Given the description of an element on the screen output the (x, y) to click on. 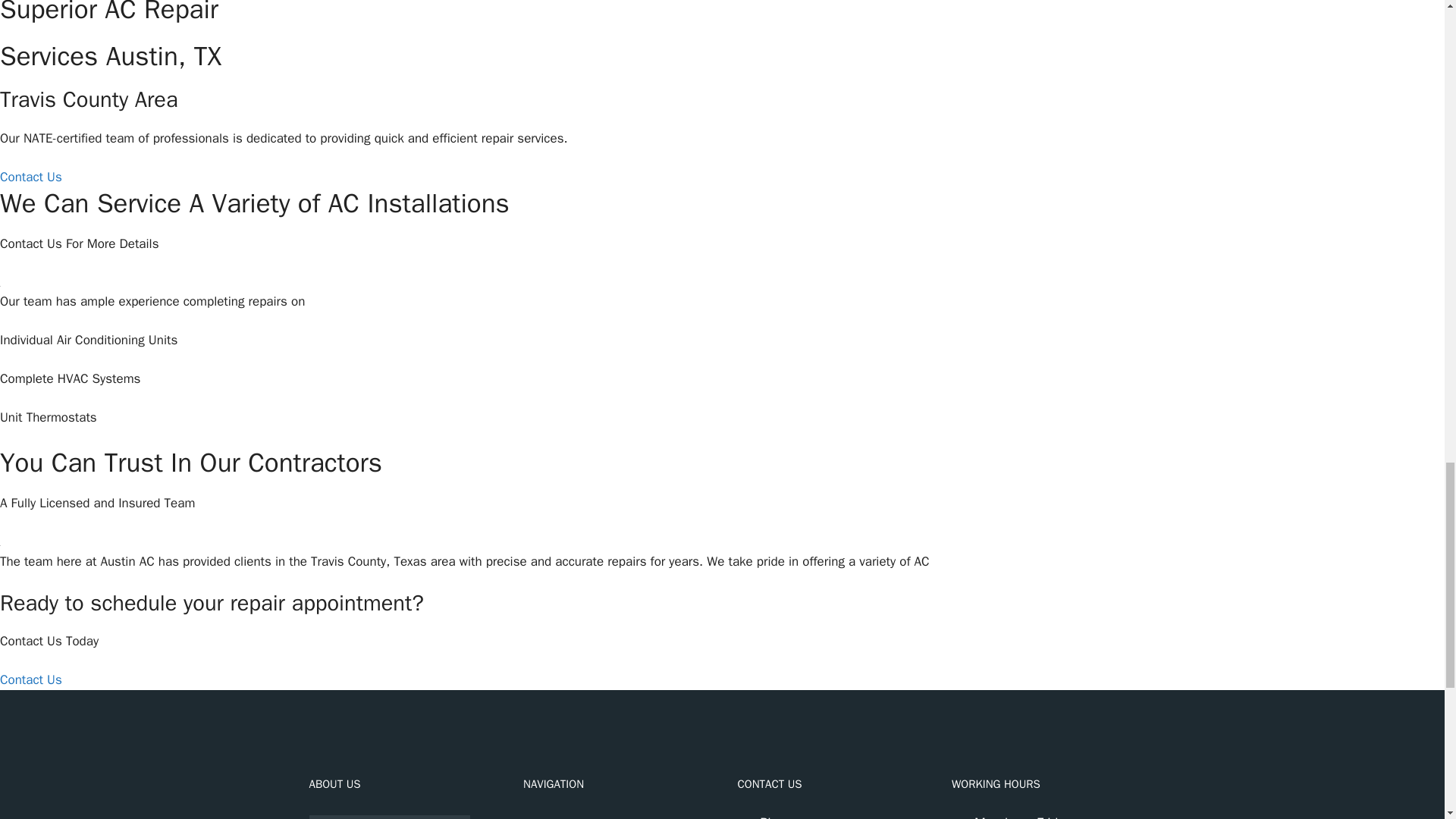
Contact Us (31, 679)
Contact Us (31, 176)
